Given the description of an element on the screen output the (x, y) to click on. 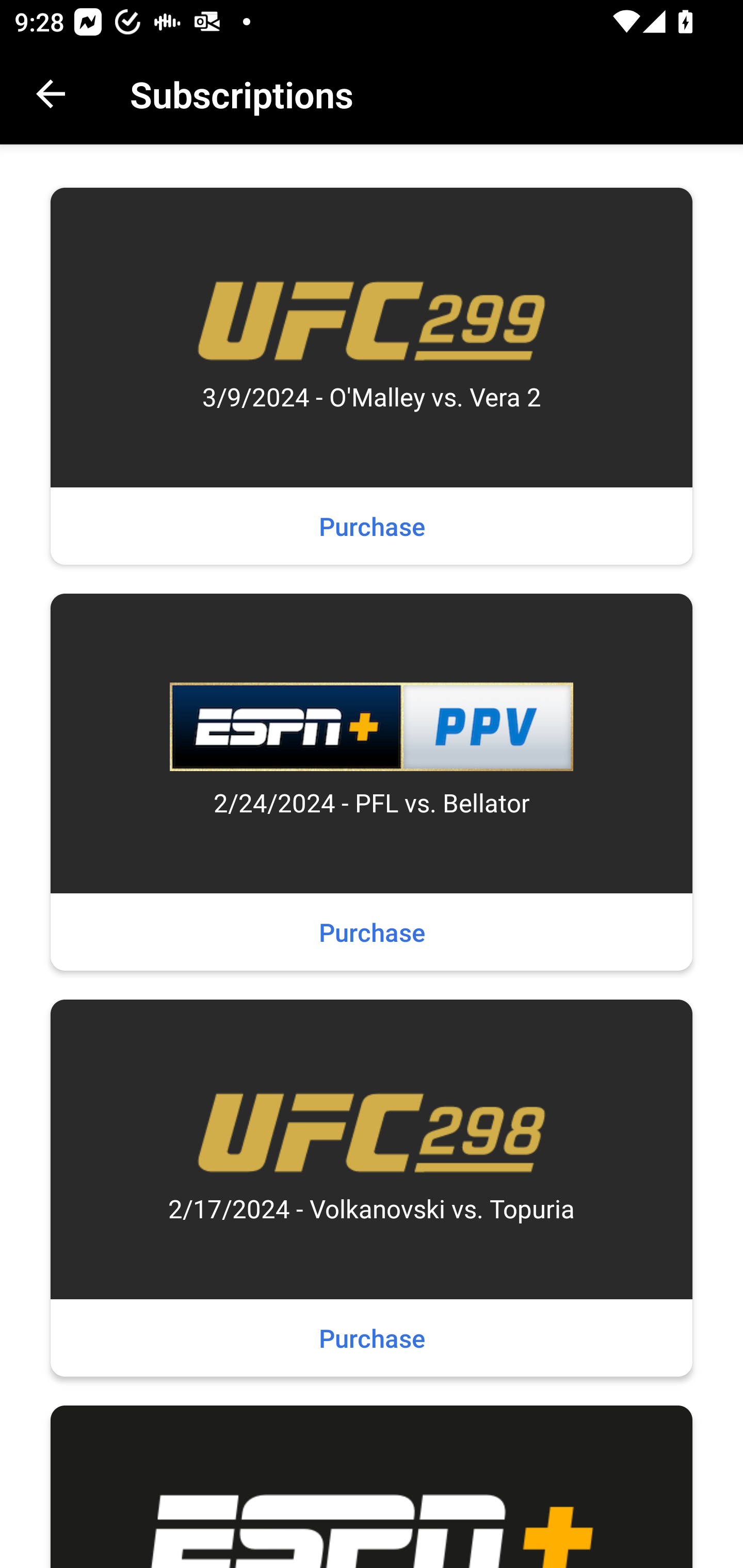
back.button (50, 93)
Purchase (371, 525)
Purchase (371, 932)
Purchase (371, 1338)
